Given the description of an element on the screen output the (x, y) to click on. 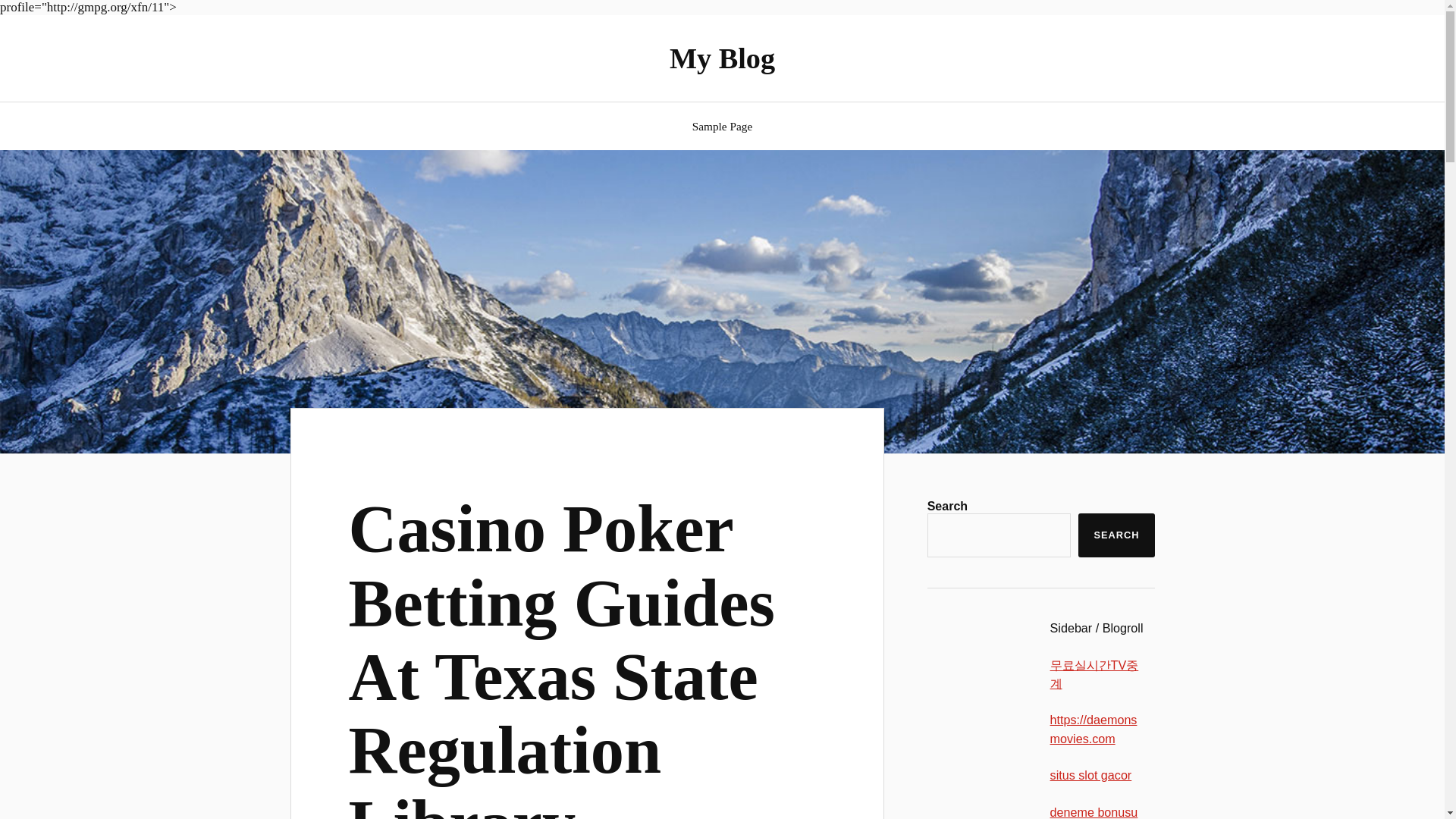
Sample Page (722, 125)
SEARCH (1116, 535)
deneme bonusu veren siteler (1093, 812)
My Blog (721, 58)
situs slot gacor (1090, 775)
